Given the description of an element on the screen output the (x, y) to click on. 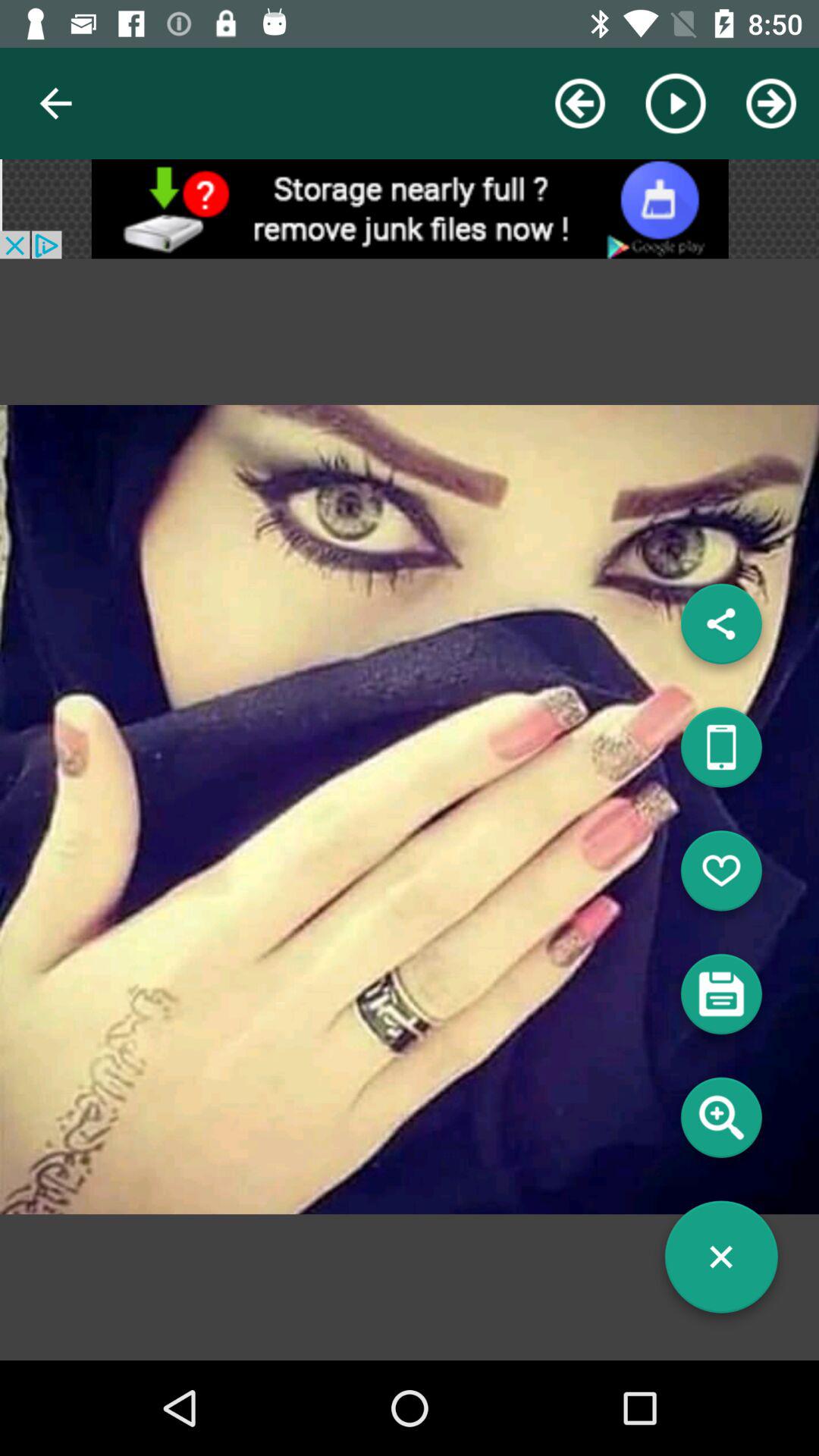
zoom in (721, 1123)
